Given the description of an element on the screen output the (x, y) to click on. 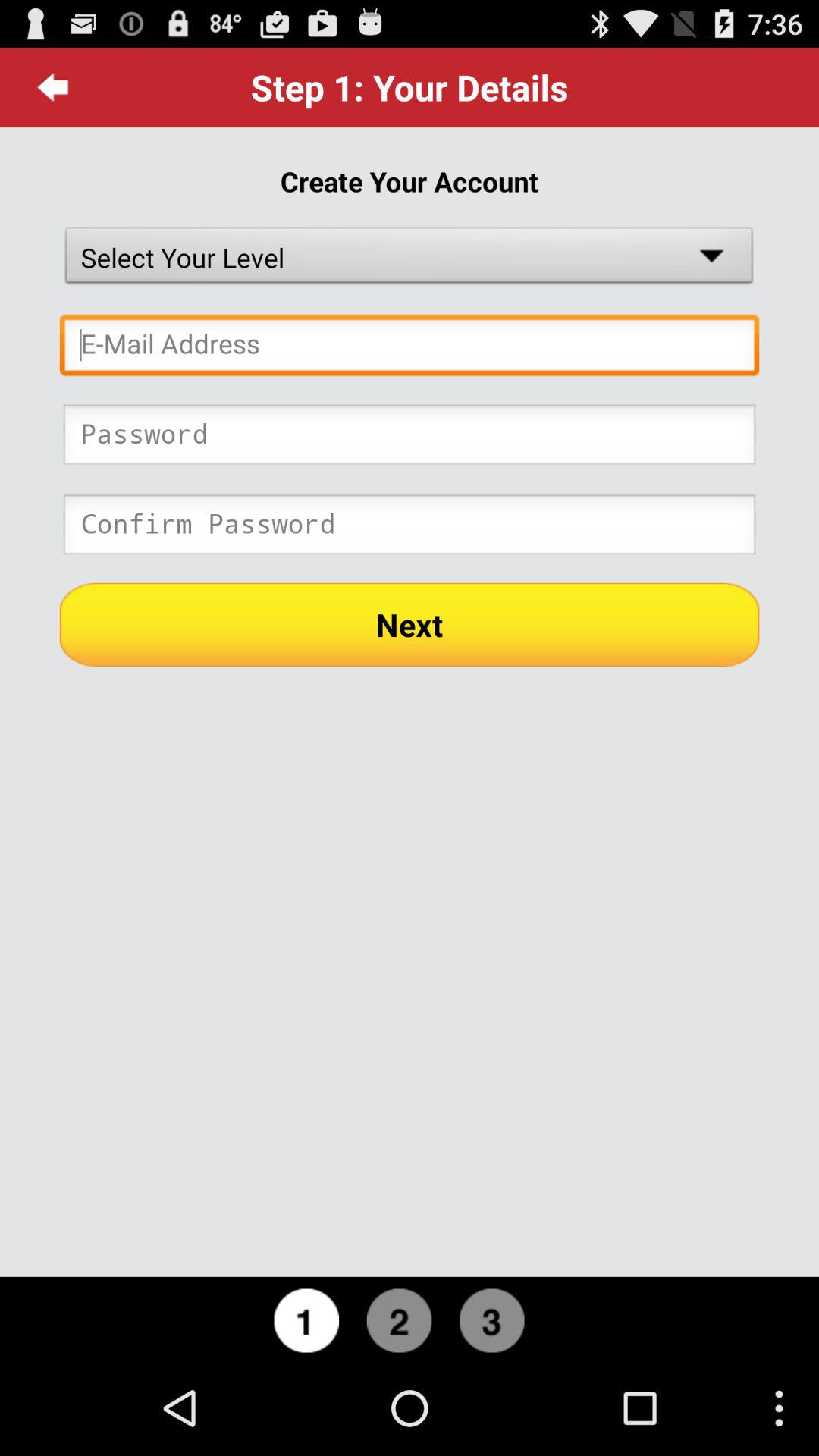
flip until next icon (409, 624)
